Given the description of an element on the screen output the (x, y) to click on. 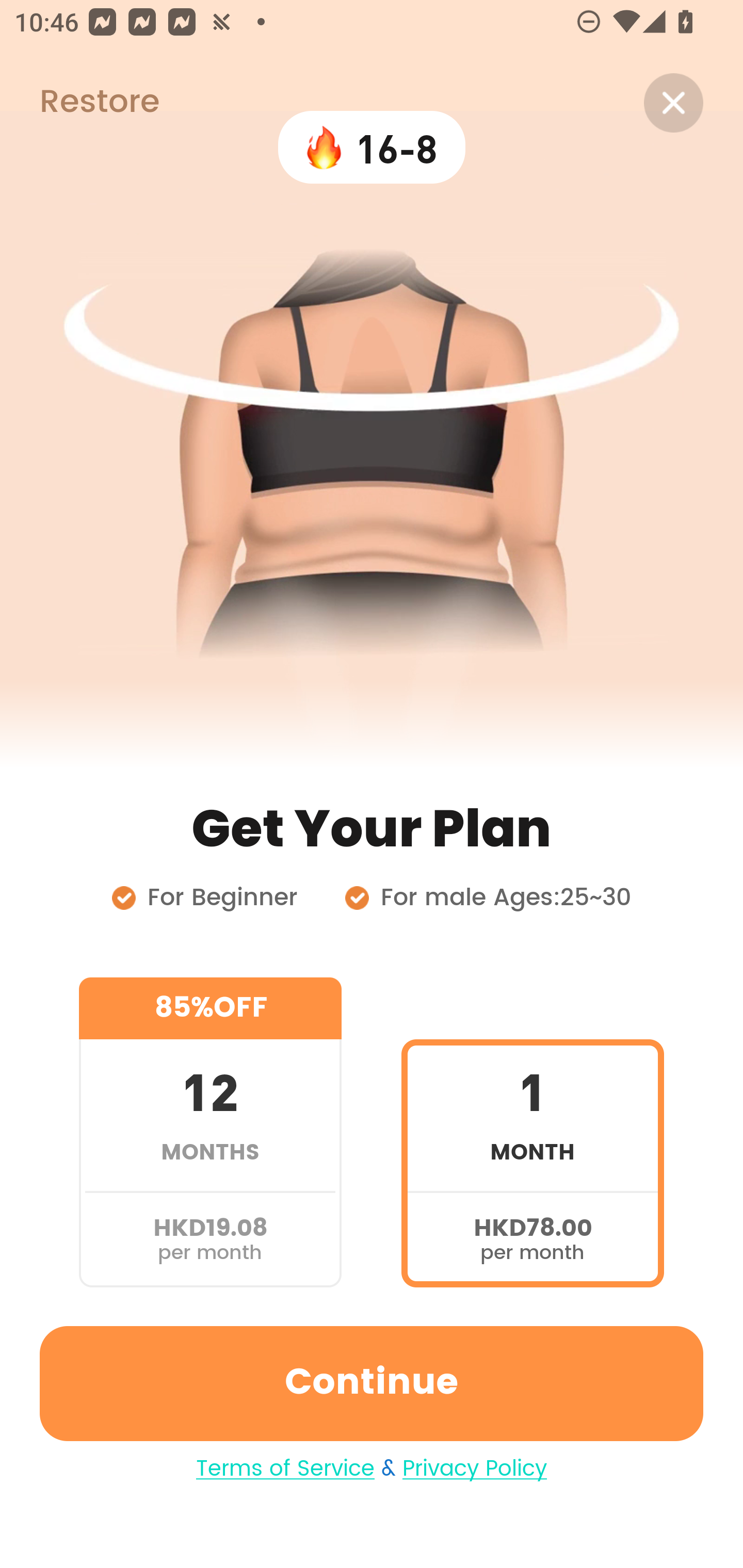
Restore (79, 102)
85%OFF 12 MONTHS per month HKD19.08 (209, 1131)
1 MONTH per month HKD78.00 (532, 1131)
Continue (371, 1383)
